Given the description of an element on the screen output the (x, y) to click on. 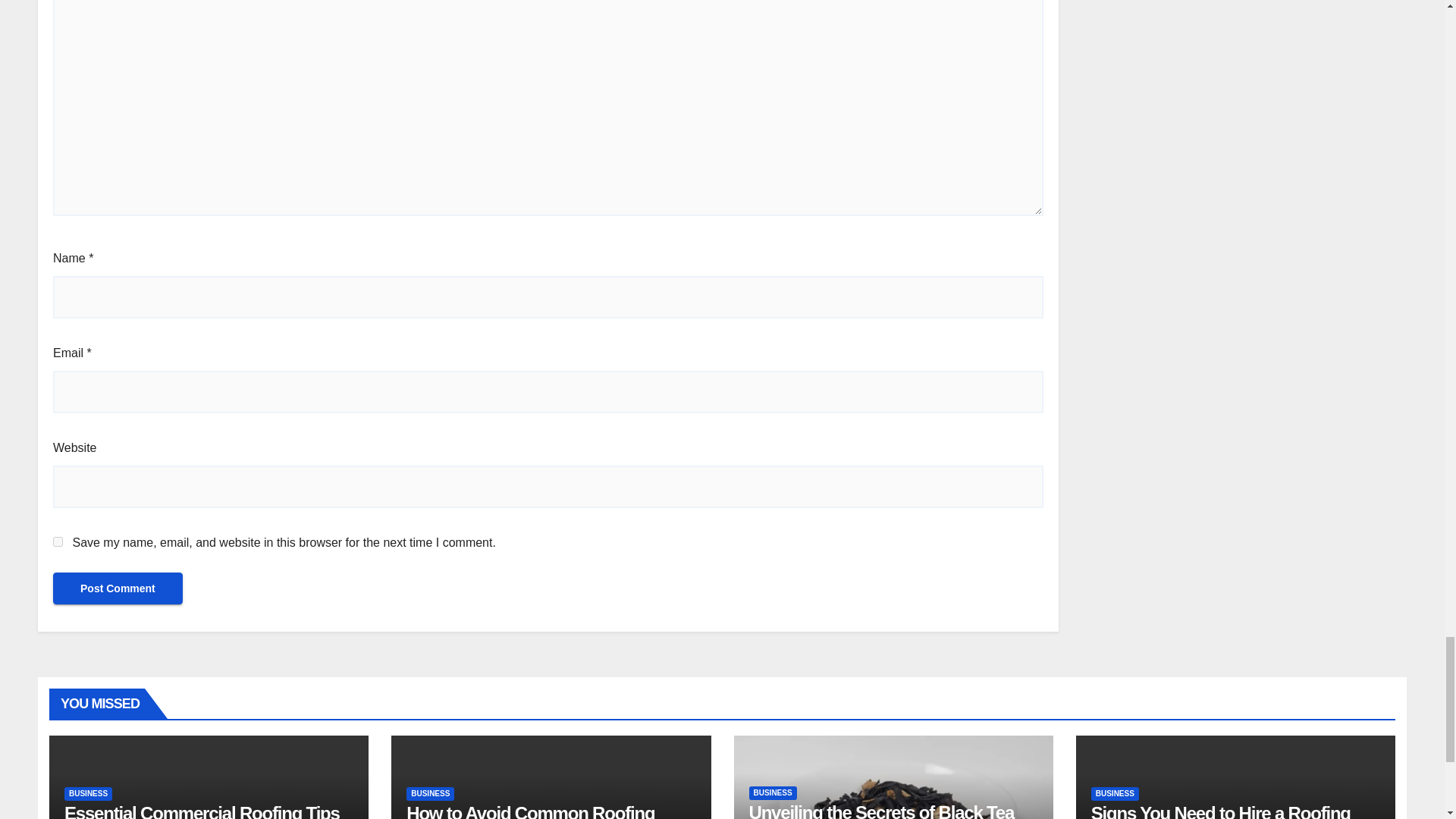
Post Comment (117, 588)
Permalink to: Signs You Need to Hire a Roofing Contractor (1220, 811)
yes (57, 542)
